Given the description of an element on the screen output the (x, y) to click on. 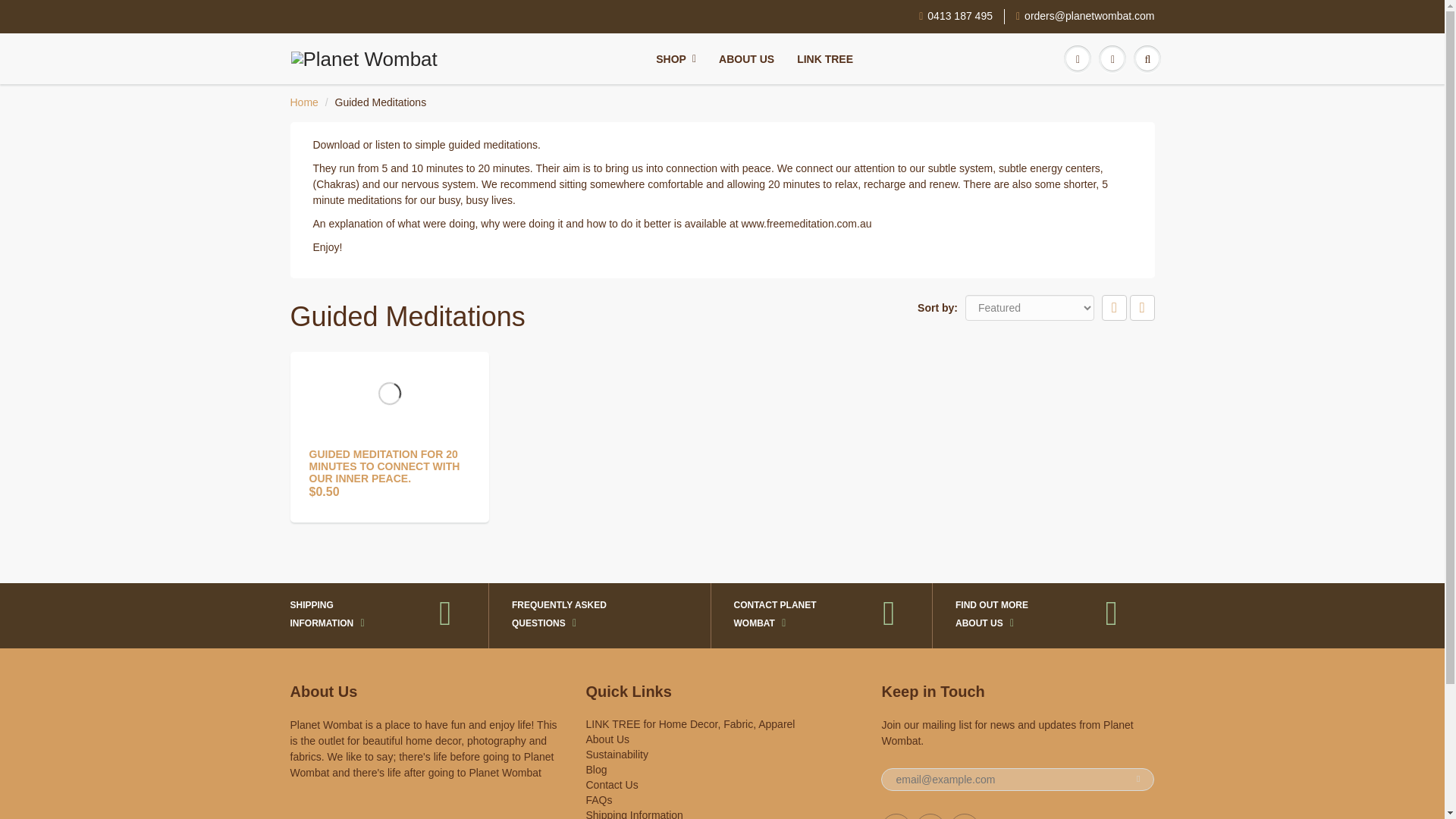
Facebook (895, 816)
ABOUT US (746, 59)
Grid view (1114, 307)
Pinterest (929, 816)
Blog (596, 769)
FAQs (598, 799)
LINK TREE (825, 59)
FREQUENTLY ASKED QUESTIONS (588, 615)
Home (303, 102)
List View (1141, 307)
